Given the description of an element on the screen output the (x, y) to click on. 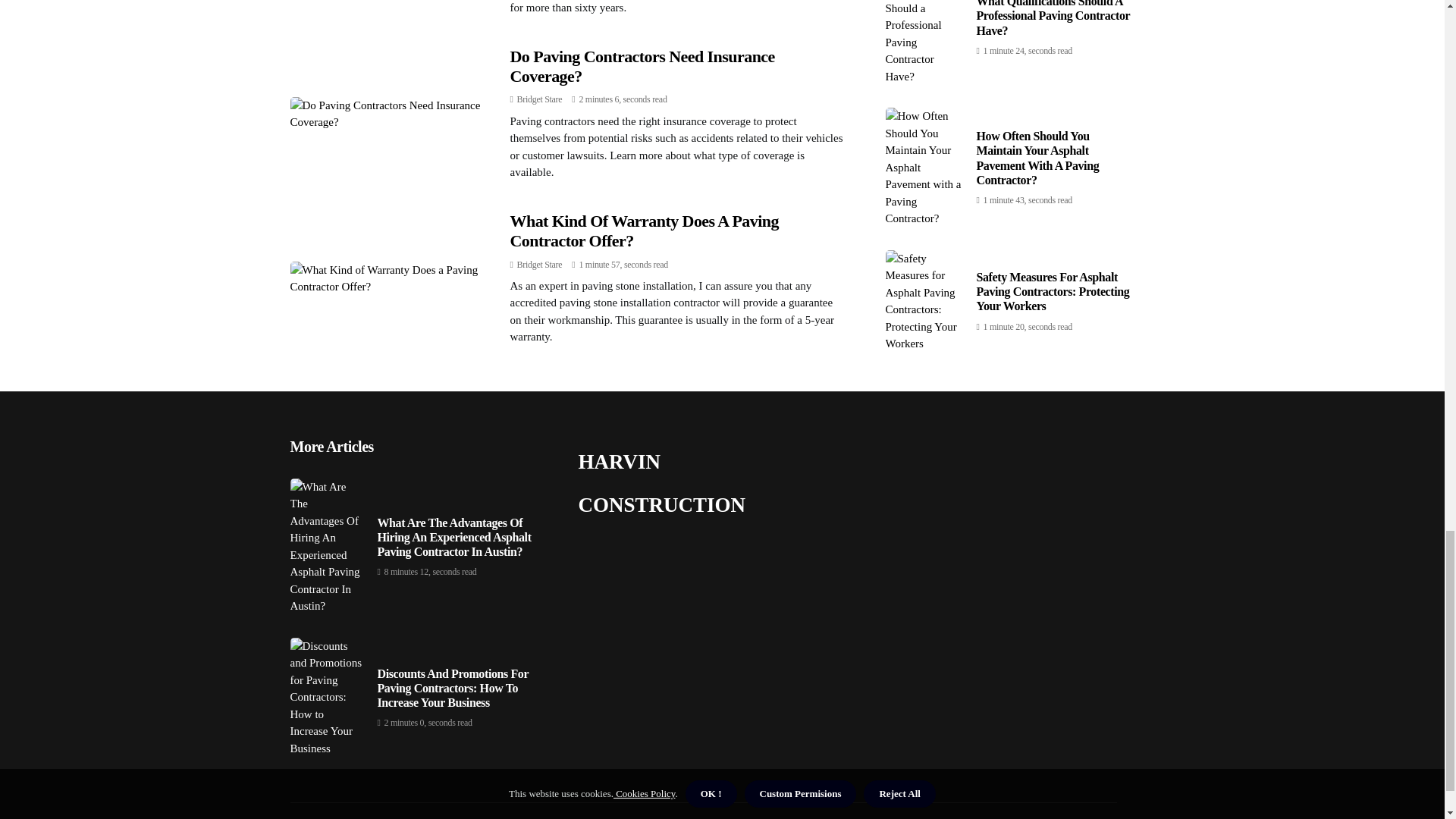
Posts by Bridget Stare (539, 99)
Do Paving Contractors Need Insurance Coverage? (641, 65)
What Kind Of Warranty Does A Paving Contractor Offer? (643, 230)
Posts by Bridget Stare (539, 264)
Bridget Stare (539, 99)
Bridget Stare (539, 264)
